Given the description of an element on the screen output the (x, y) to click on. 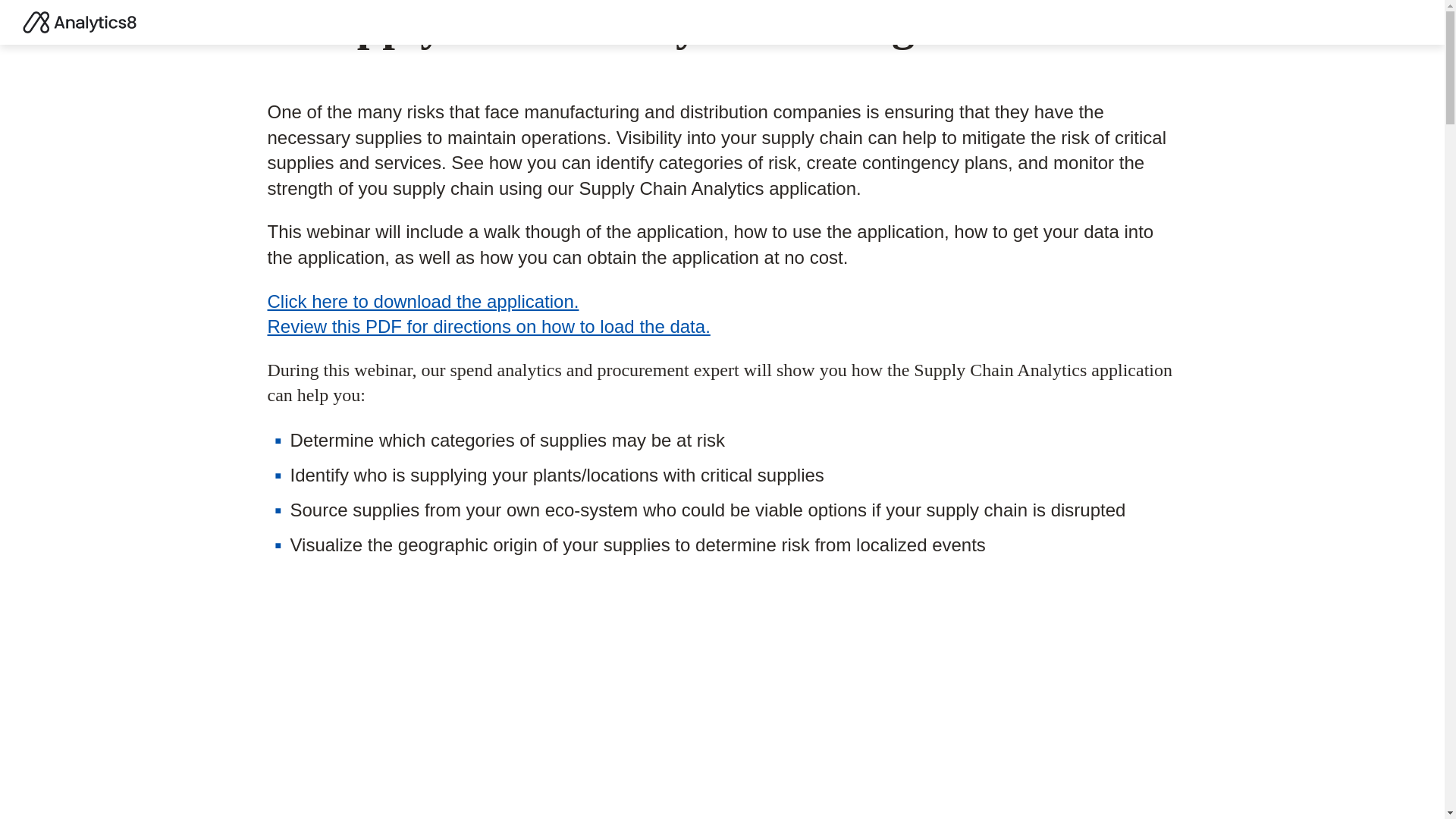
Review this PDF for directions on how to load the data. (488, 326)
Supply Chain Analytics during COVID-19 (509, 698)
Click here to download the application. (422, 301)
